Given the description of an element on the screen output the (x, y) to click on. 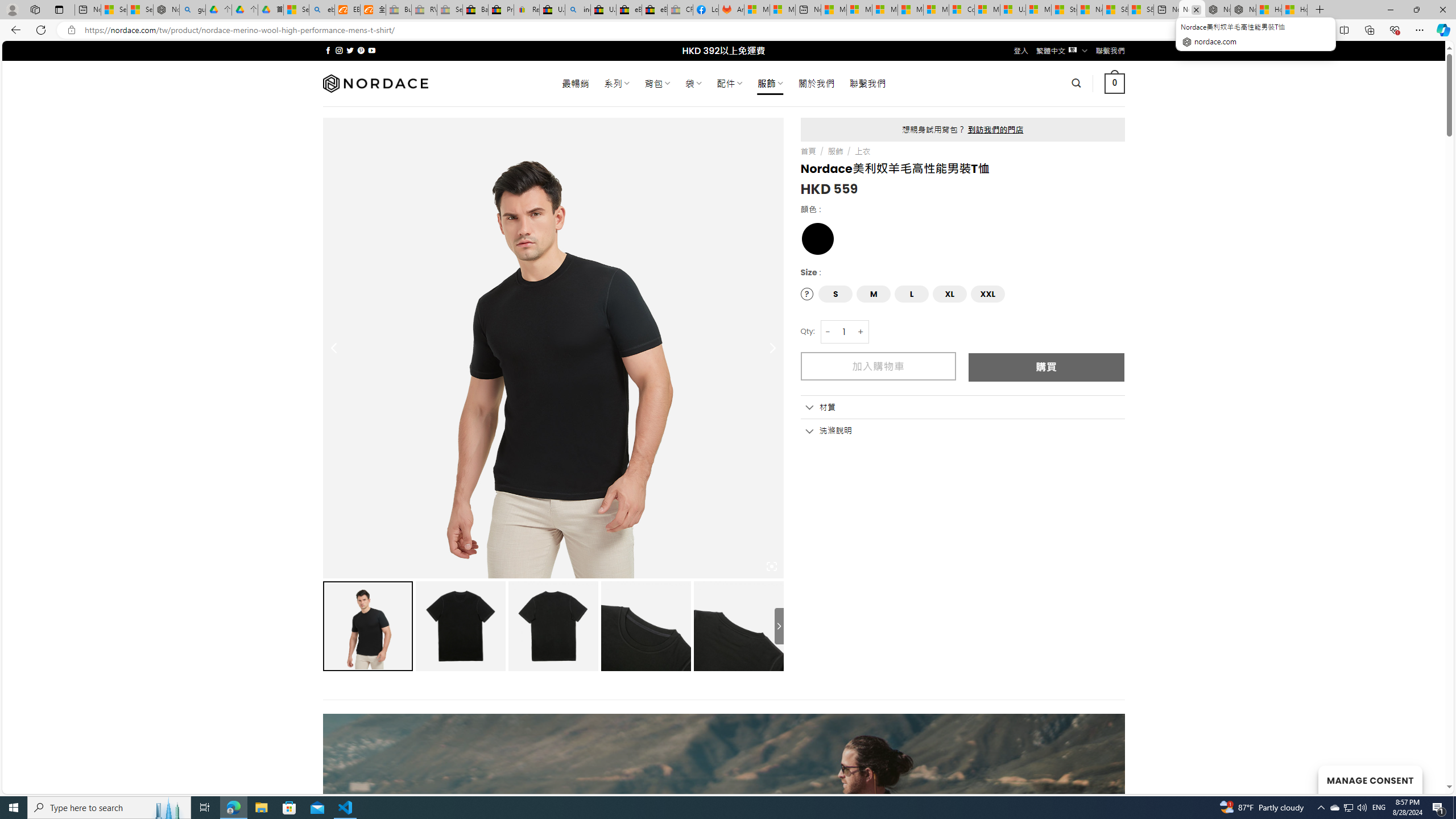
Split screen (1344, 29)
Back (13, 29)
Press Room - eBay Inc. (500, 9)
New tab (1165, 9)
Nordace (374, 83)
Follow on Instagram (338, 50)
Tab actions menu (58, 9)
Minimize (1390, 9)
